Given the description of an element on the screen output the (x, y) to click on. 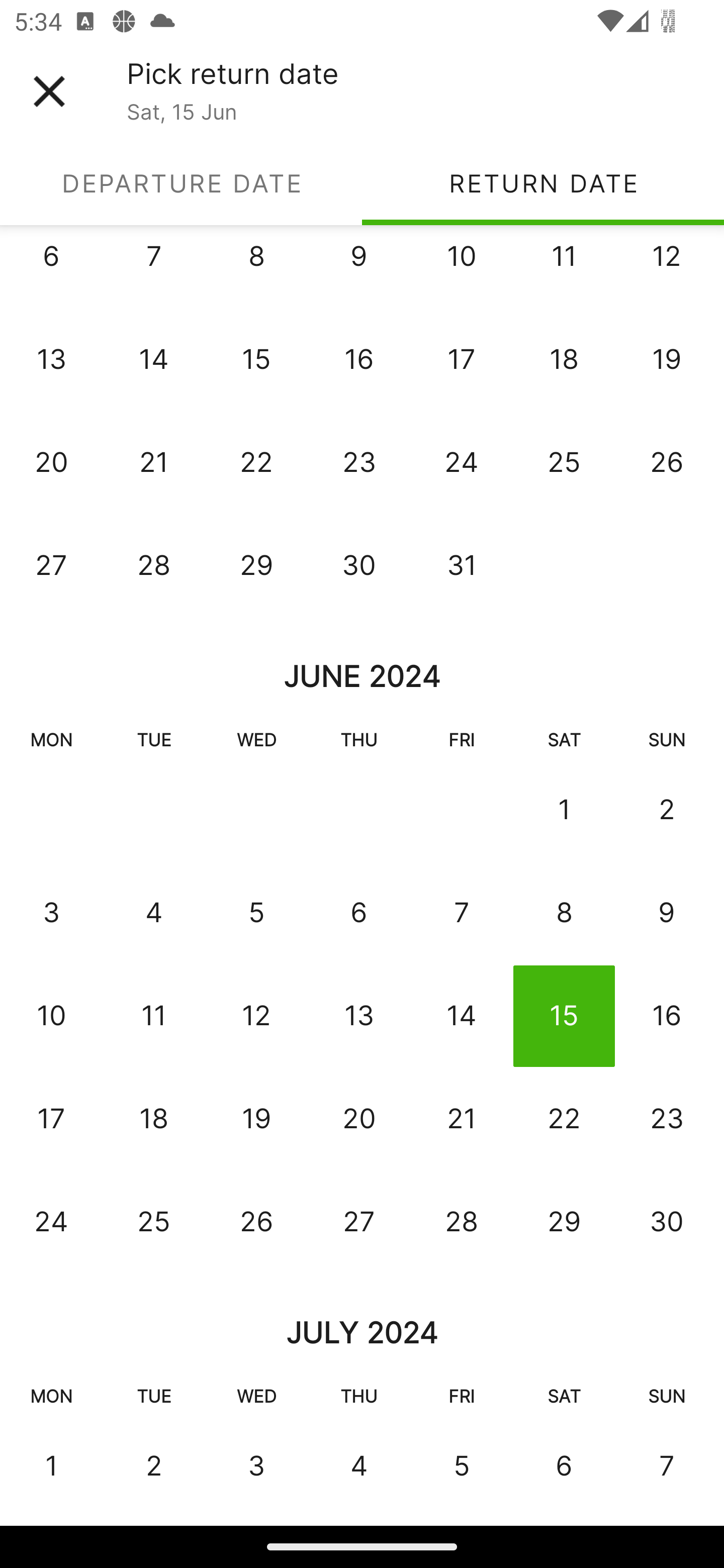
Departure Date DEPARTURE DATE (181, 183)
